Given the description of an element on the screen output the (x, y) to click on. 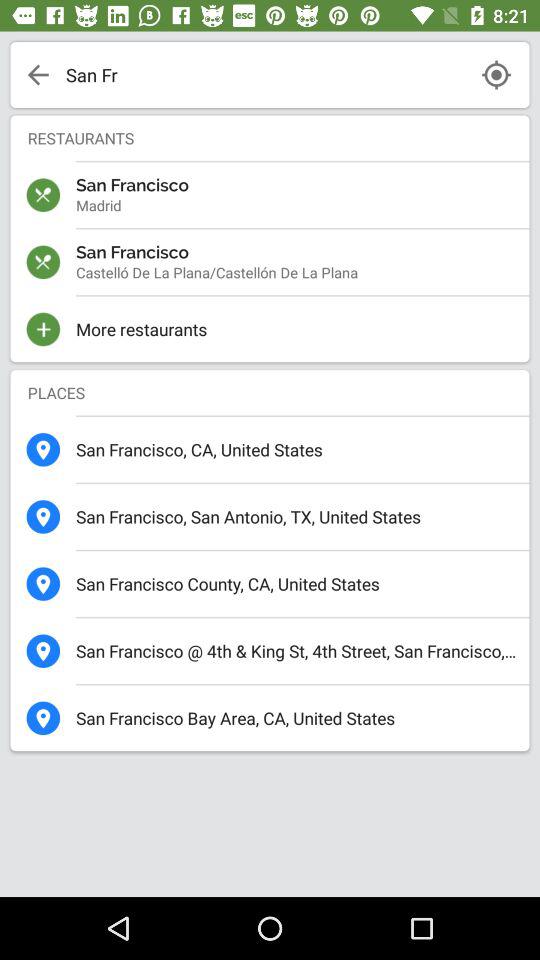
previous page (38, 75)
